Given the description of an element on the screen output the (x, y) to click on. 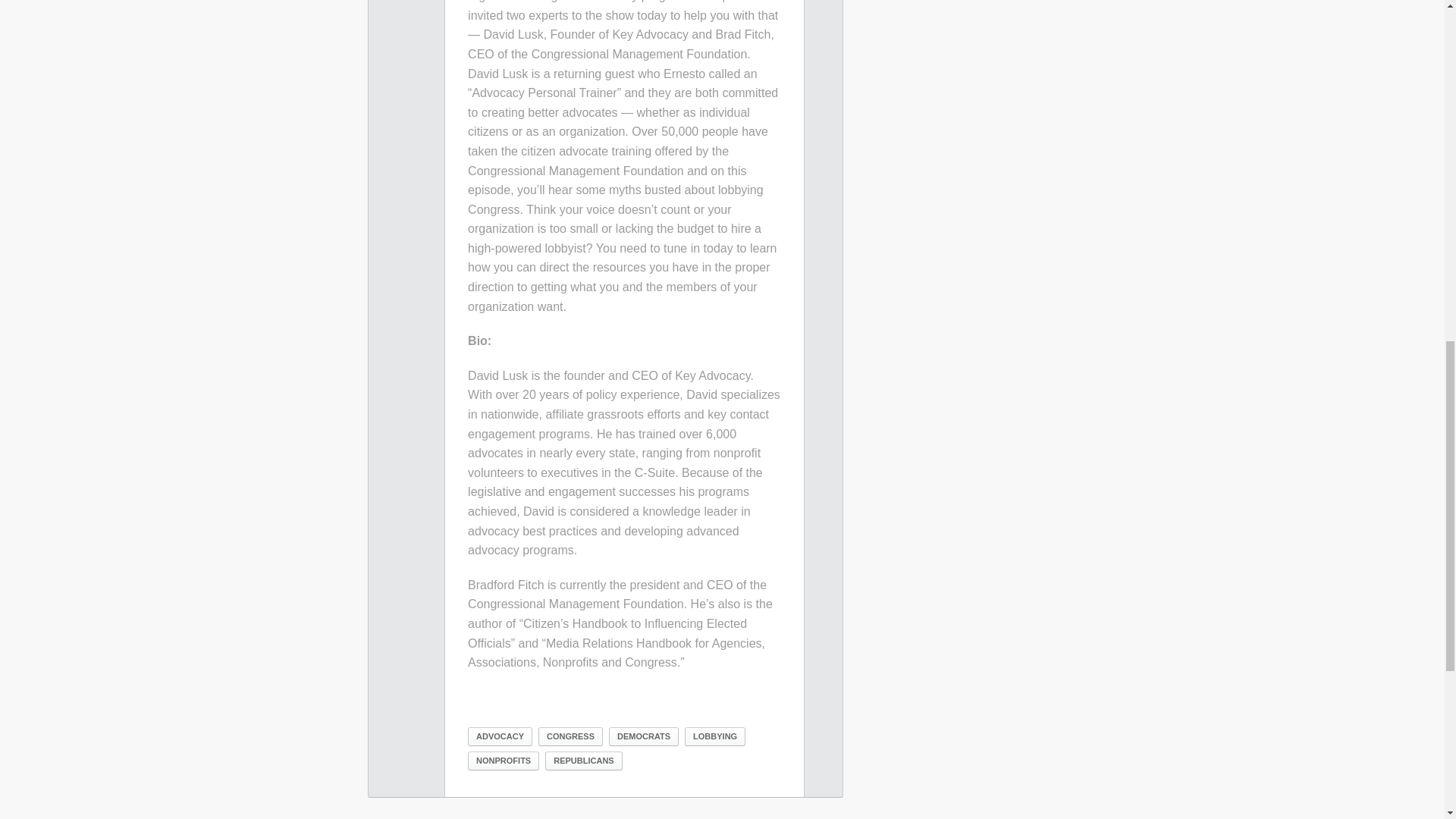
LOBBYING (714, 736)
ADVOCACY (499, 736)
REPUBLICANS (582, 760)
DEMOCRATS (643, 736)
CONGRESS (570, 736)
NONPROFITS (502, 760)
